Given the description of an element on the screen output the (x, y) to click on. 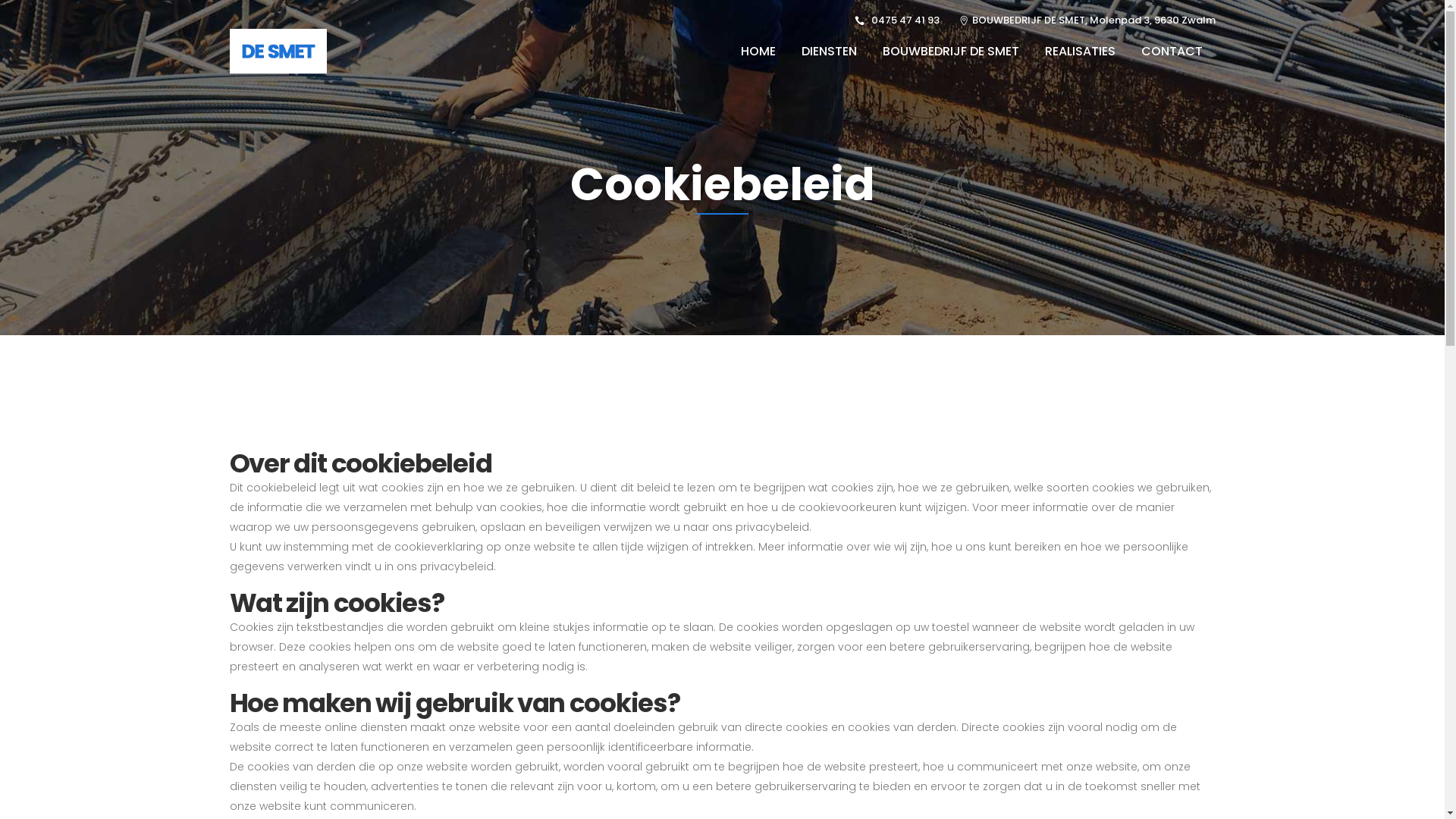
DIENSTEN Element type: text (828, 51)
REALISATIES Element type: text (1079, 51)
CONTACT Element type: text (1171, 51)
HOME Element type: text (758, 51)
BOUWBEDRIJF DE SMET Element type: text (950, 51)
